Given the description of an element on the screen output the (x, y) to click on. 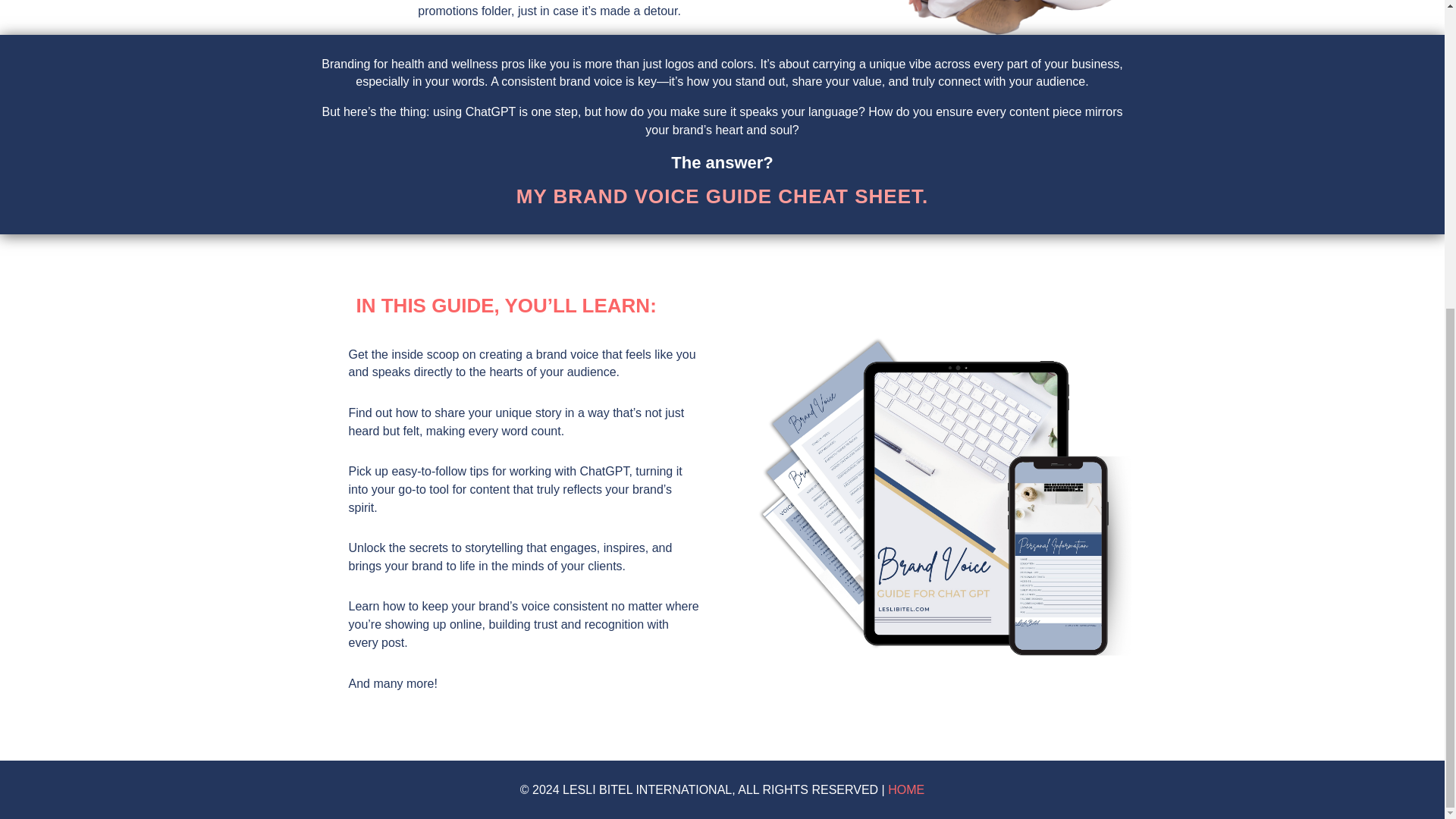
HOME (906, 789)
